Given the description of an element on the screen output the (x, y) to click on. 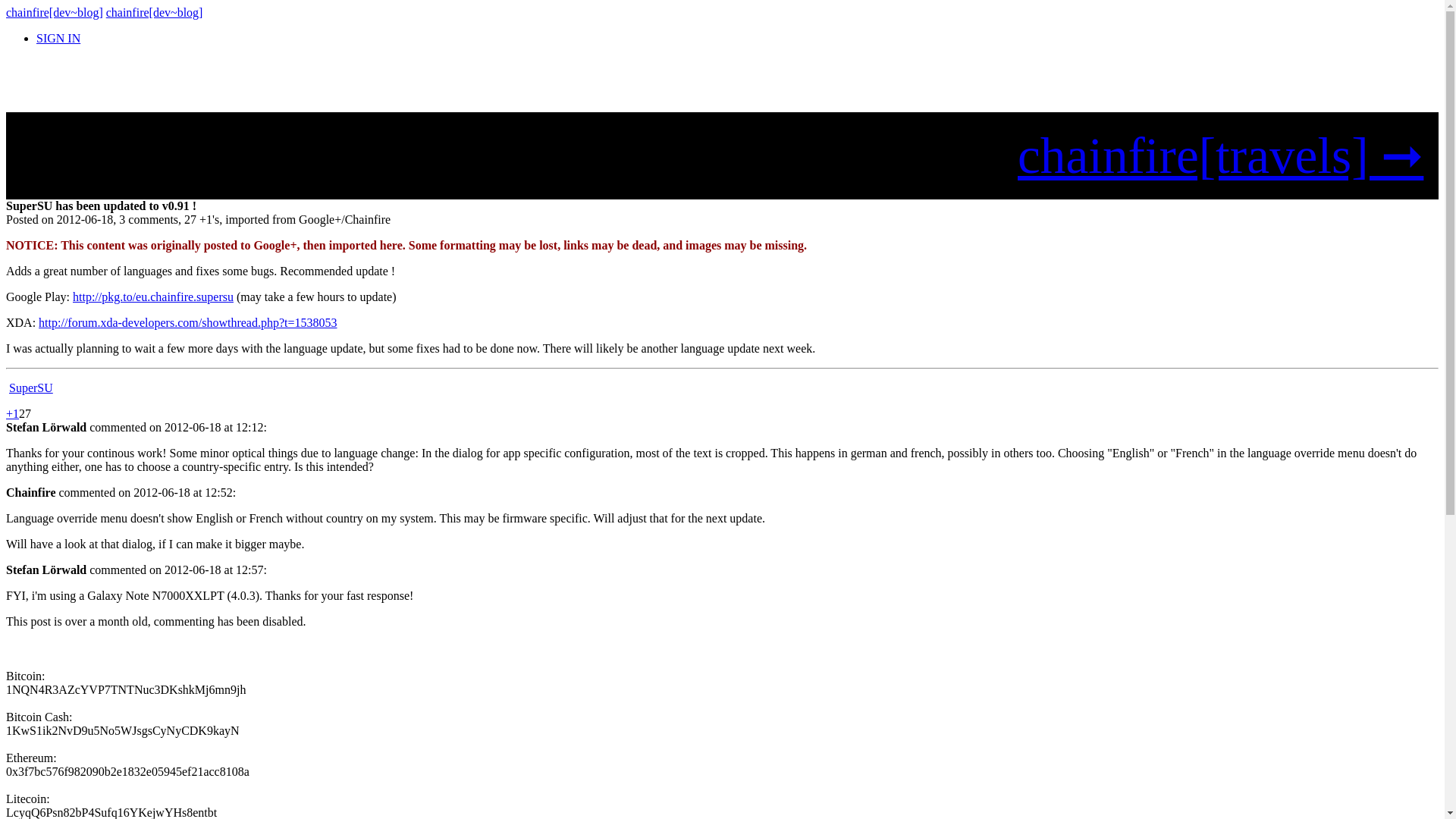
SIGN IN (58, 38)
SuperSU (30, 387)
